Given the description of an element on the screen output the (x, y) to click on. 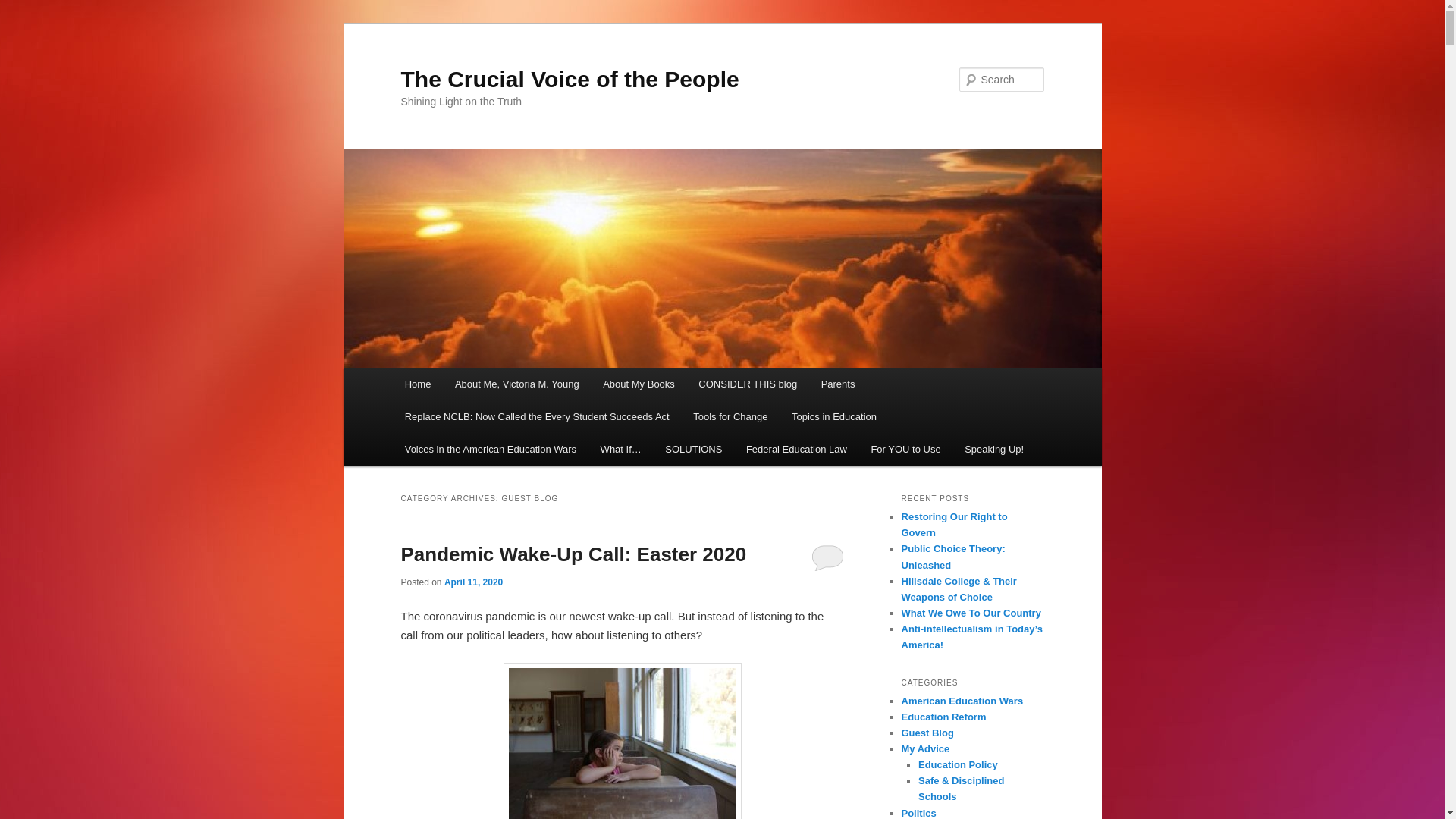
About Me, Victoria M. Young (516, 383)
2:35 PM (473, 582)
Parents (837, 383)
Replace NCLB: Now Called the Every Student Succeeds Act (537, 416)
Voices in the American Education Wars (490, 449)
About My Books (638, 383)
The Crucial Voice of the People (569, 78)
SOLUTIONS (694, 449)
Topics in Education (833, 416)
